Given the description of an element on the screen output the (x, y) to click on. 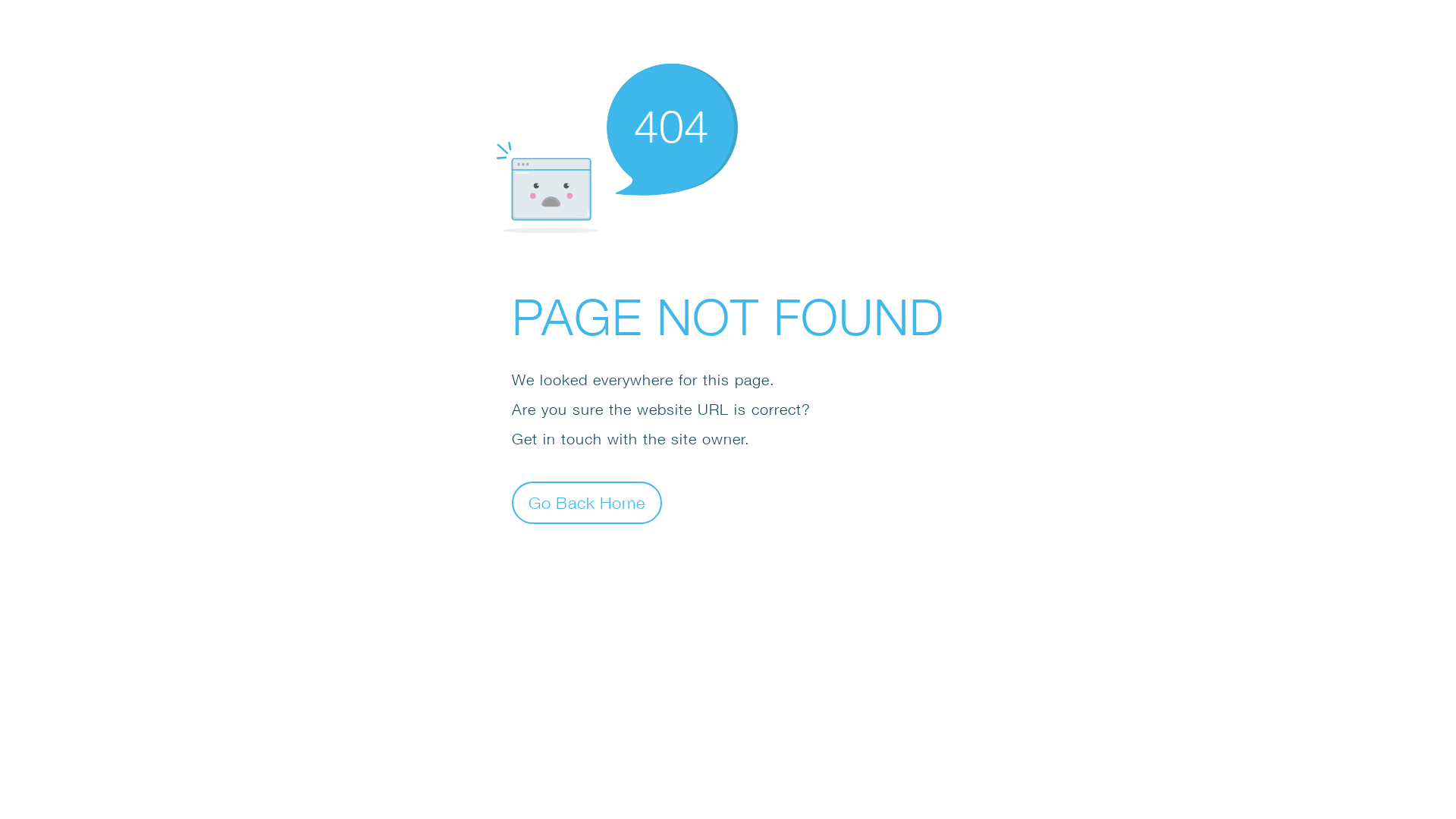
Go Back Home Element type: text (586, 502)
